Given the description of an element on the screen output the (x, y) to click on. 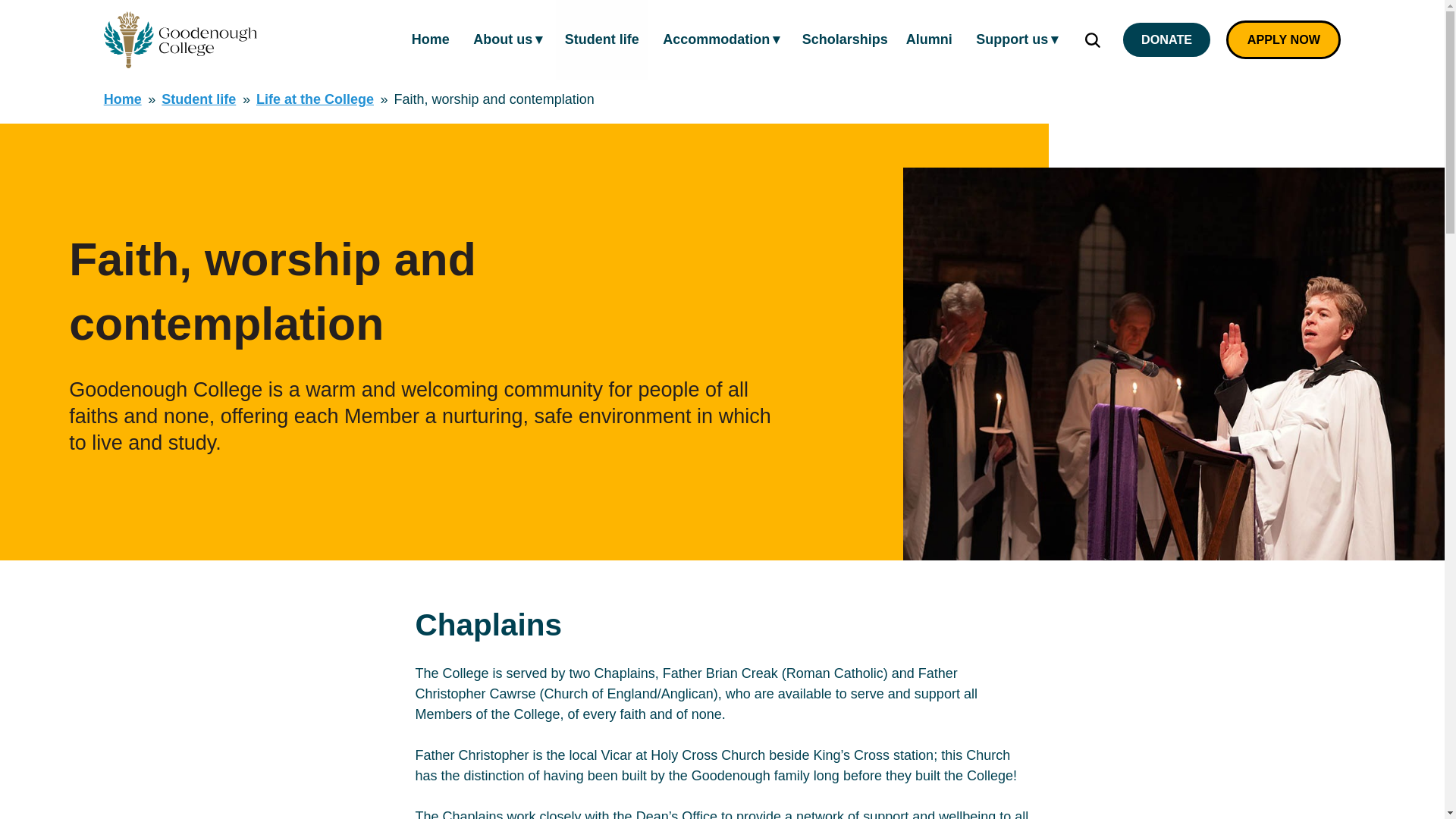
Scholarships (844, 39)
About us (507, 39)
Accommodation (720, 39)
Student life (601, 39)
Support us (1015, 39)
